Given the description of an element on the screen output the (x, y) to click on. 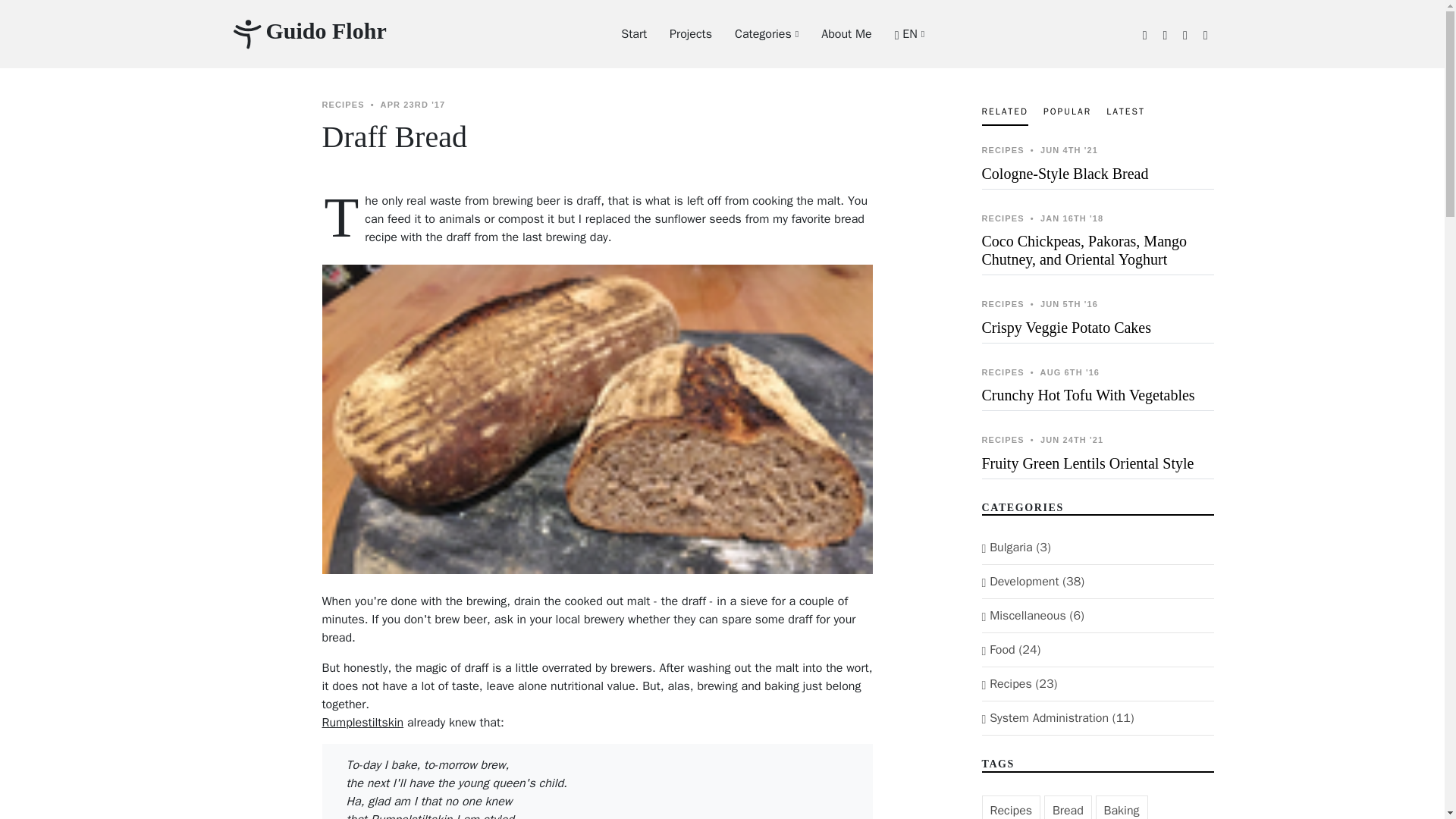
POPULAR (1066, 111)
LATEST (1125, 111)
 EN (898, 33)
Fruity Green Lentils Oriental Style (1087, 463)
Categories (754, 33)
Guido Flohr (307, 33)
Crispy Veggie Potato Cakes (1066, 326)
Coco Chickpeas, Pakoras, Mango Chutney, and Oriental Yoghurt (1083, 249)
Rumplestiltskin (362, 722)
RELATED (1004, 112)
Crunchy Hot Tofu With Vegetables (1087, 394)
Cologne-Style Black Bread (1064, 173)
Start (622, 33)
About Me (833, 33)
Projects (678, 33)
